Given the description of an element on the screen output the (x, y) to click on. 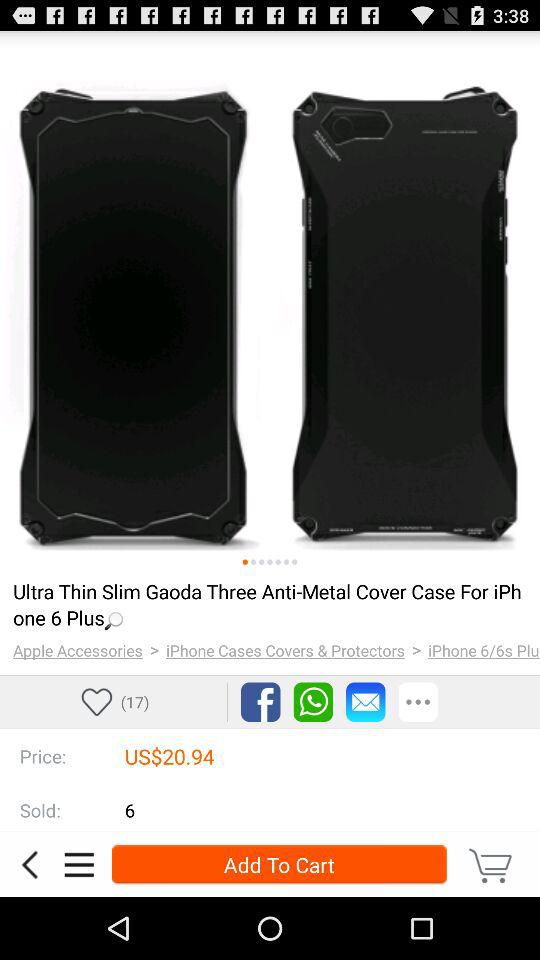
choose the item above loading... item (244, 561)
